Given the description of an element on the screen output the (x, y) to click on. 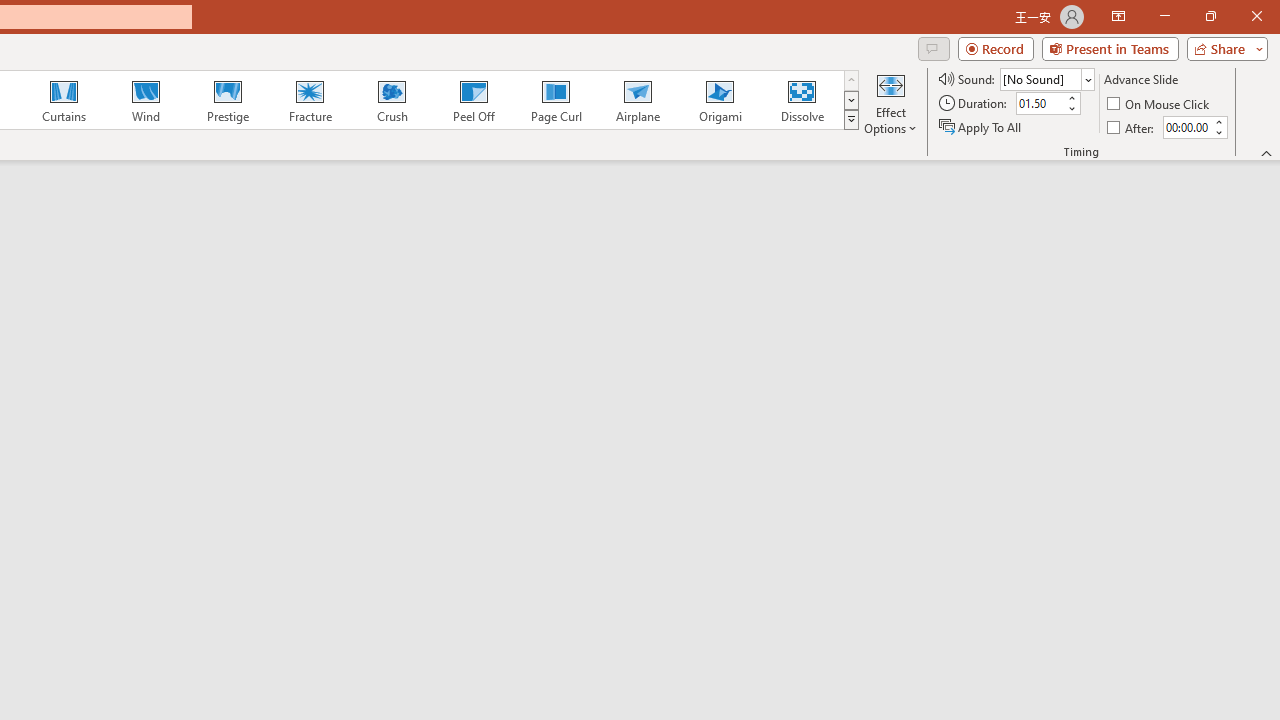
Duration (1039, 103)
Page Curl (555, 100)
After (1186, 127)
Wind (145, 100)
Transition Effects (850, 120)
On Mouse Click (1159, 103)
Origami (719, 100)
Sound (1046, 78)
